Given the description of an element on the screen output the (x, y) to click on. 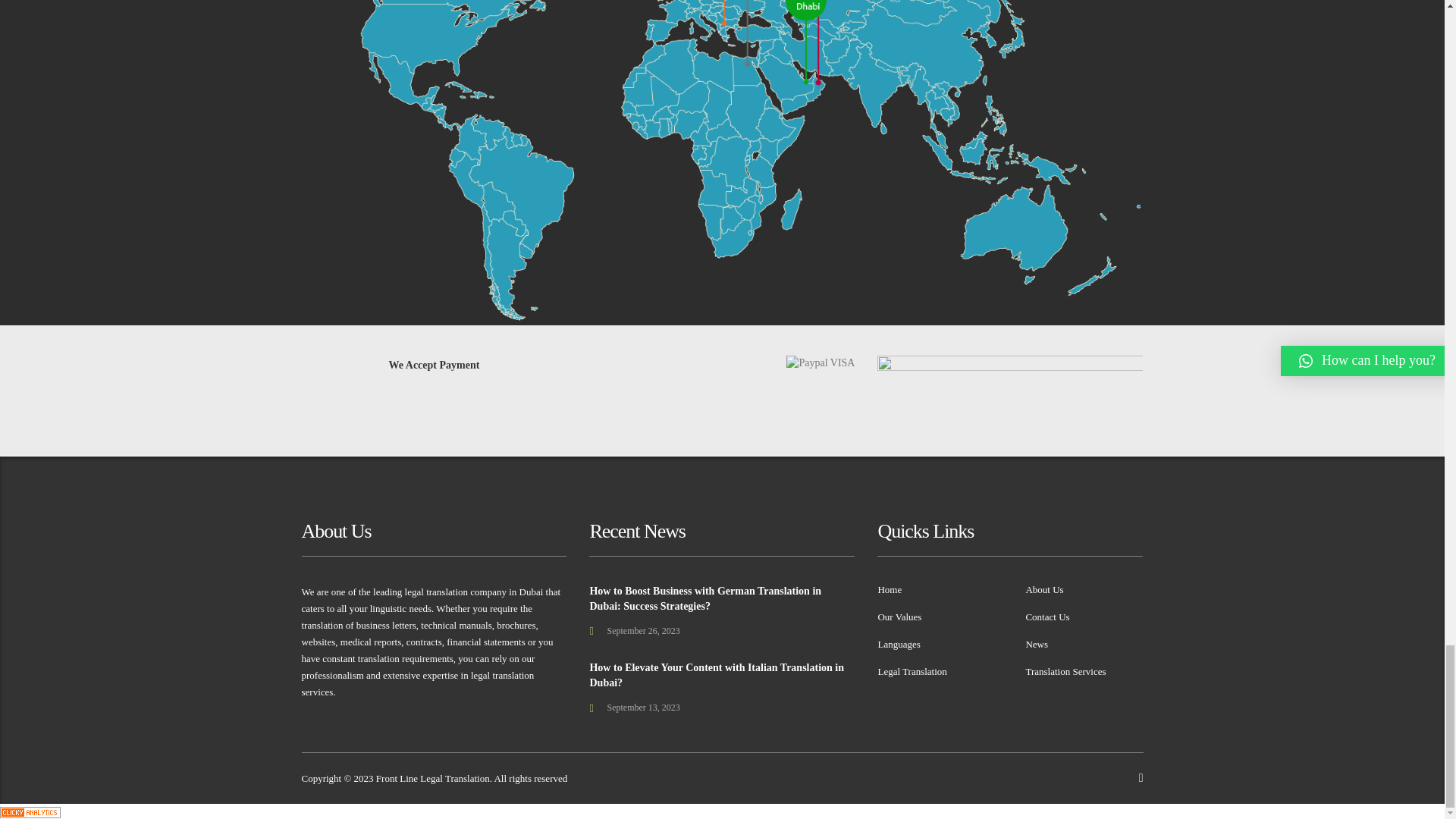
Home (889, 589)
